Given the description of an element on the screen output the (x, y) to click on. 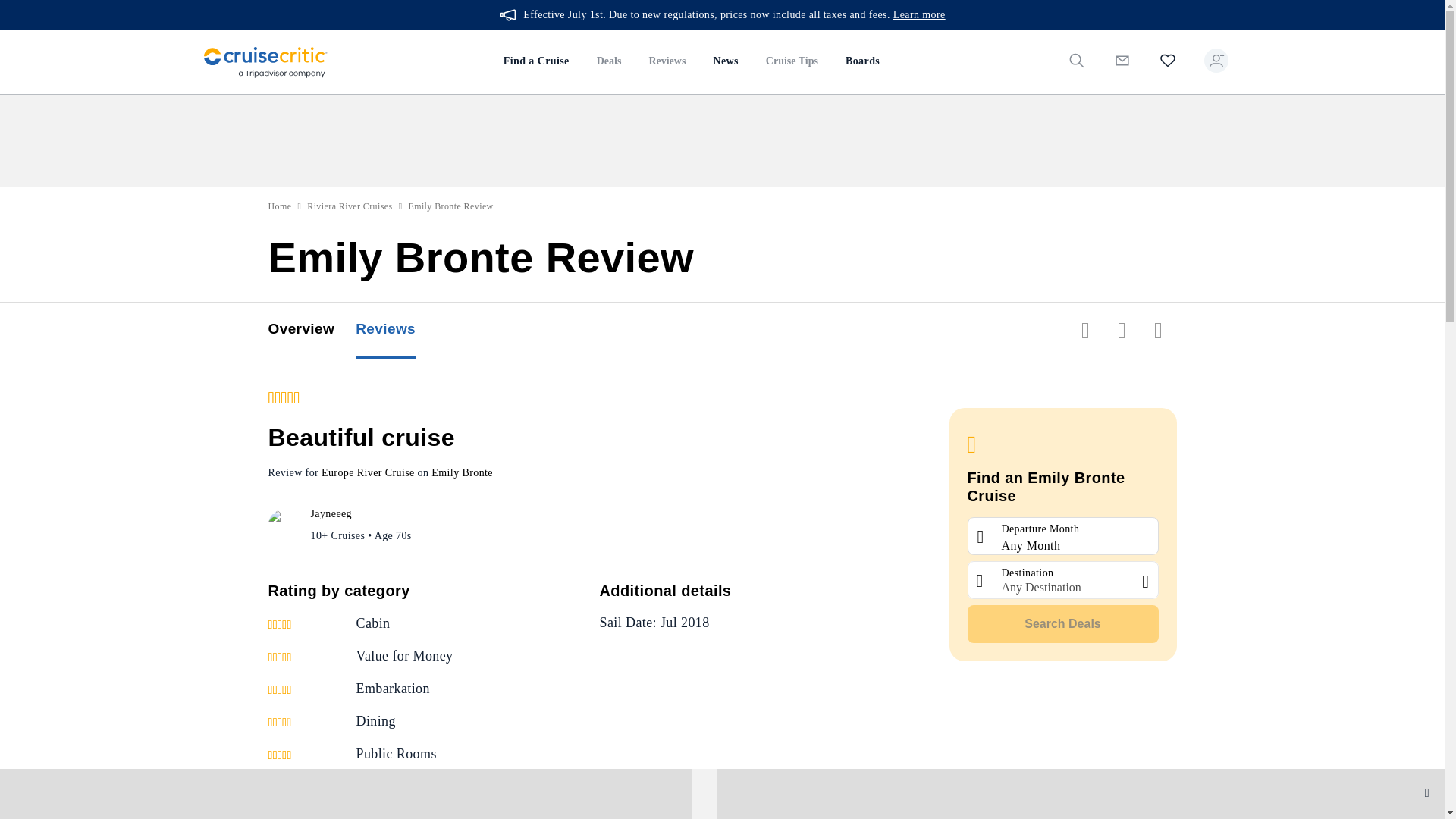
Search Deals (1063, 623)
Learn more (918, 15)
Emily Bronte Review (450, 205)
Reviews (395, 330)
Find a Cruise (536, 62)
Home (279, 205)
Boards (861, 62)
Emily Bronte (461, 472)
Reviews (666, 62)
Overview (311, 330)
